Given the description of an element on the screen output the (x, y) to click on. 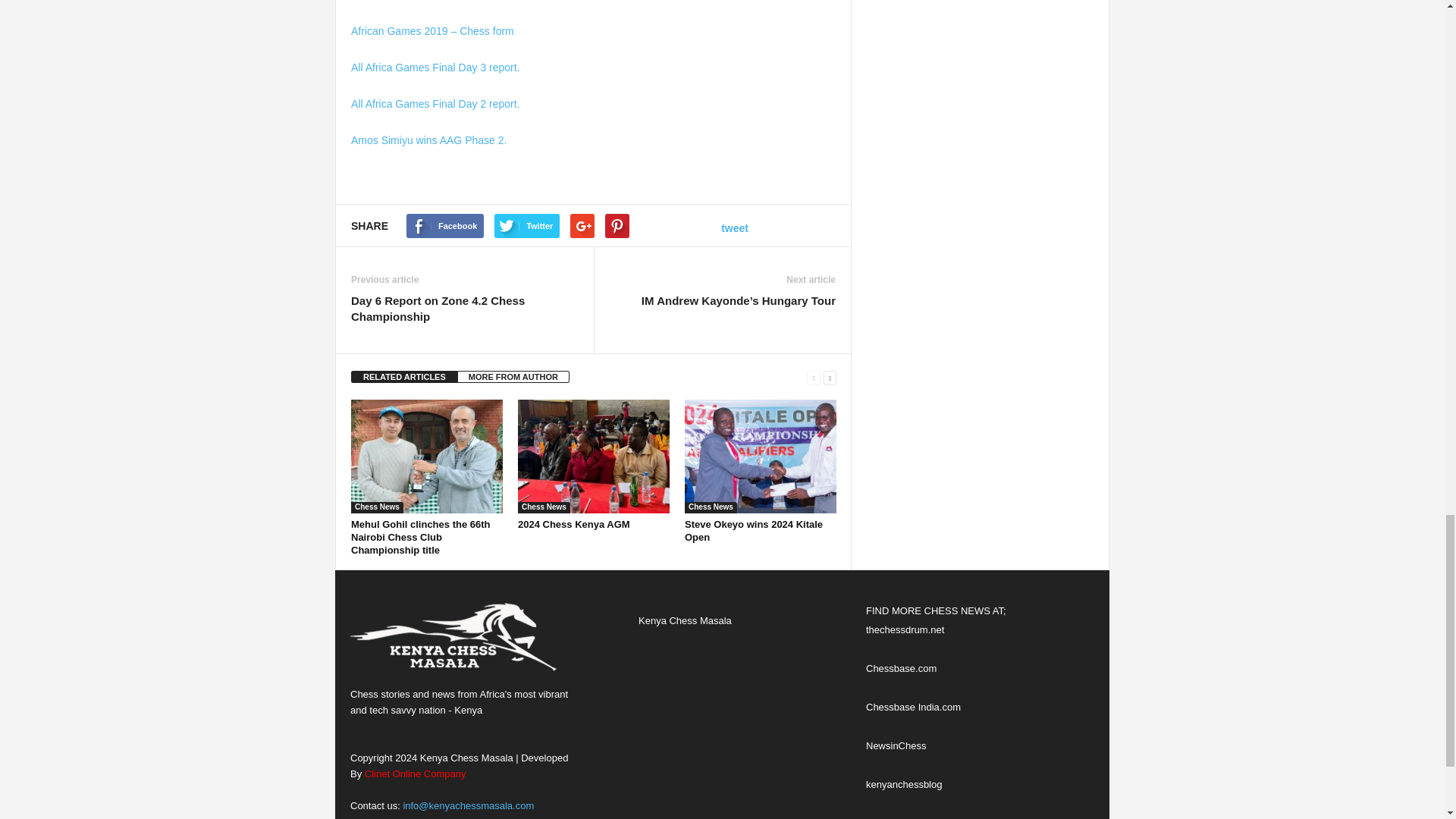
2024 Chess Kenya AGM (574, 523)
Steve Okeyo wins 2024 Kitale Open (753, 530)
2024 Chess Kenya AGM (593, 456)
Steve Okeyo wins 2024 Kitale Open (759, 456)
